Given the description of an element on the screen output the (x, y) to click on. 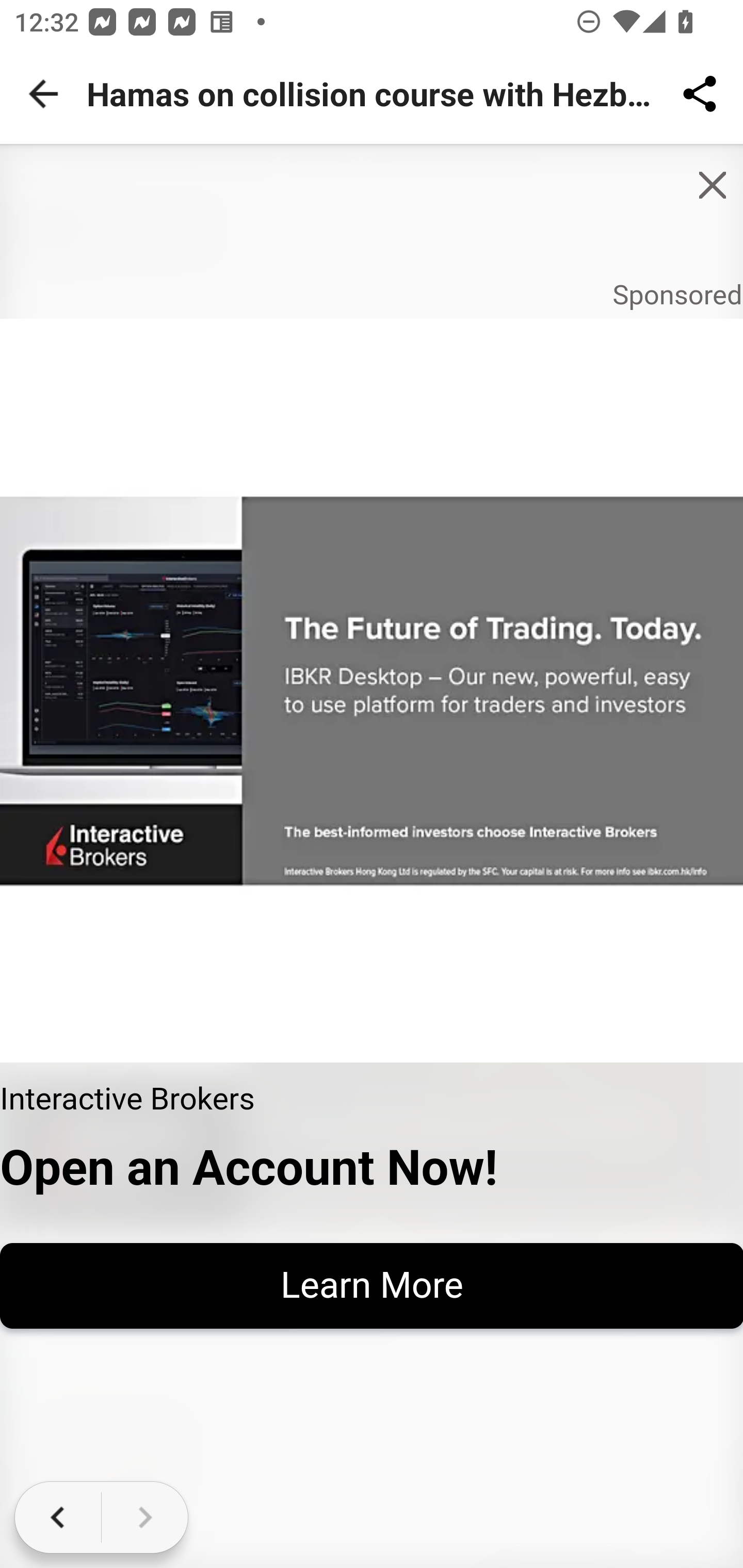
Sponsored (677, 296)
Learn More (371, 1285)
